Given the description of an element on the screen output the (x, y) to click on. 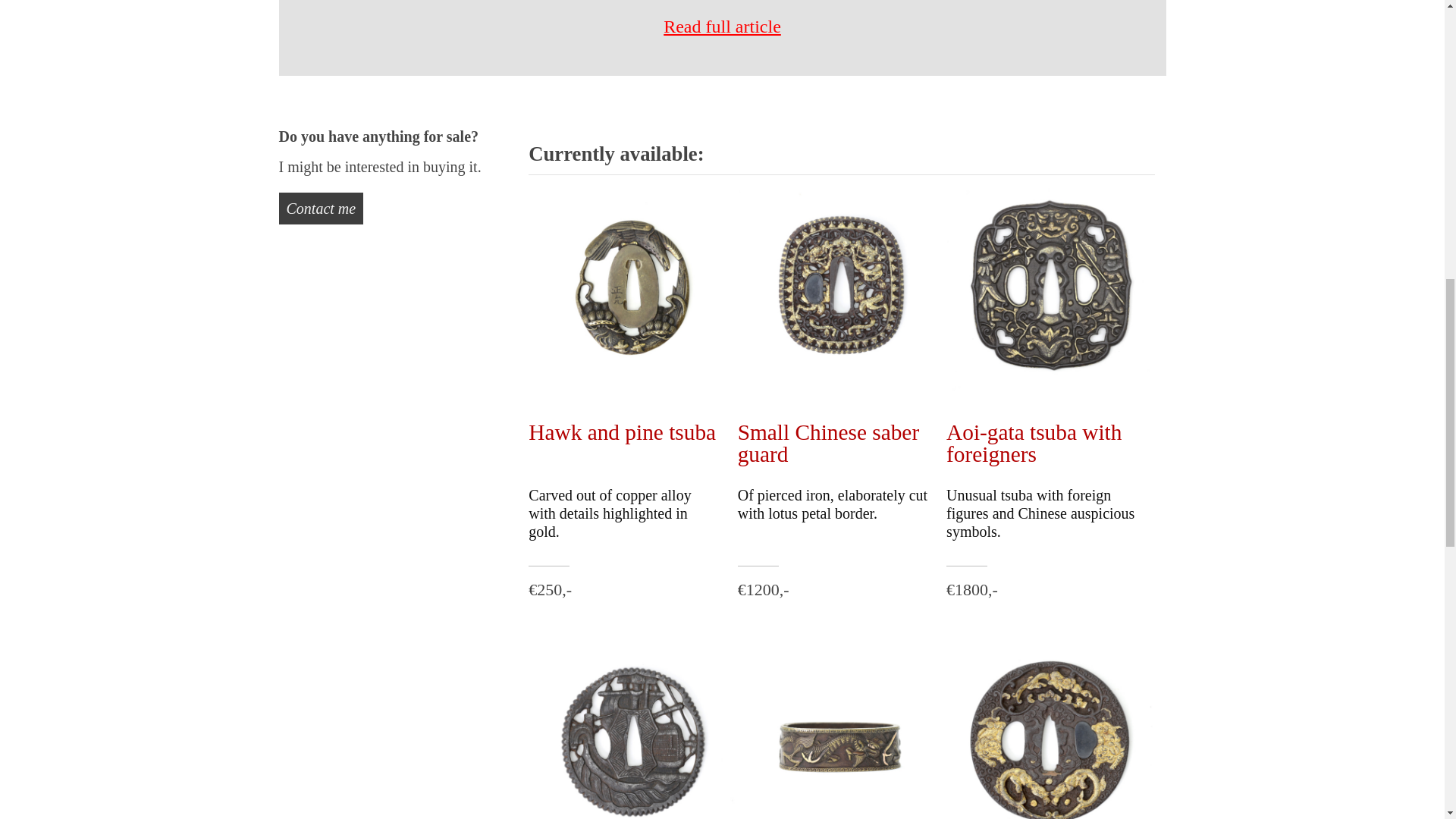
Read full article (721, 26)
Small Chinese saber guard (828, 443)
Contact me (321, 208)
Hawk and pine tsuba (622, 432)
Aoi-gata tsuba with foreigners (1033, 443)
